Given the description of an element on the screen output the (x, y) to click on. 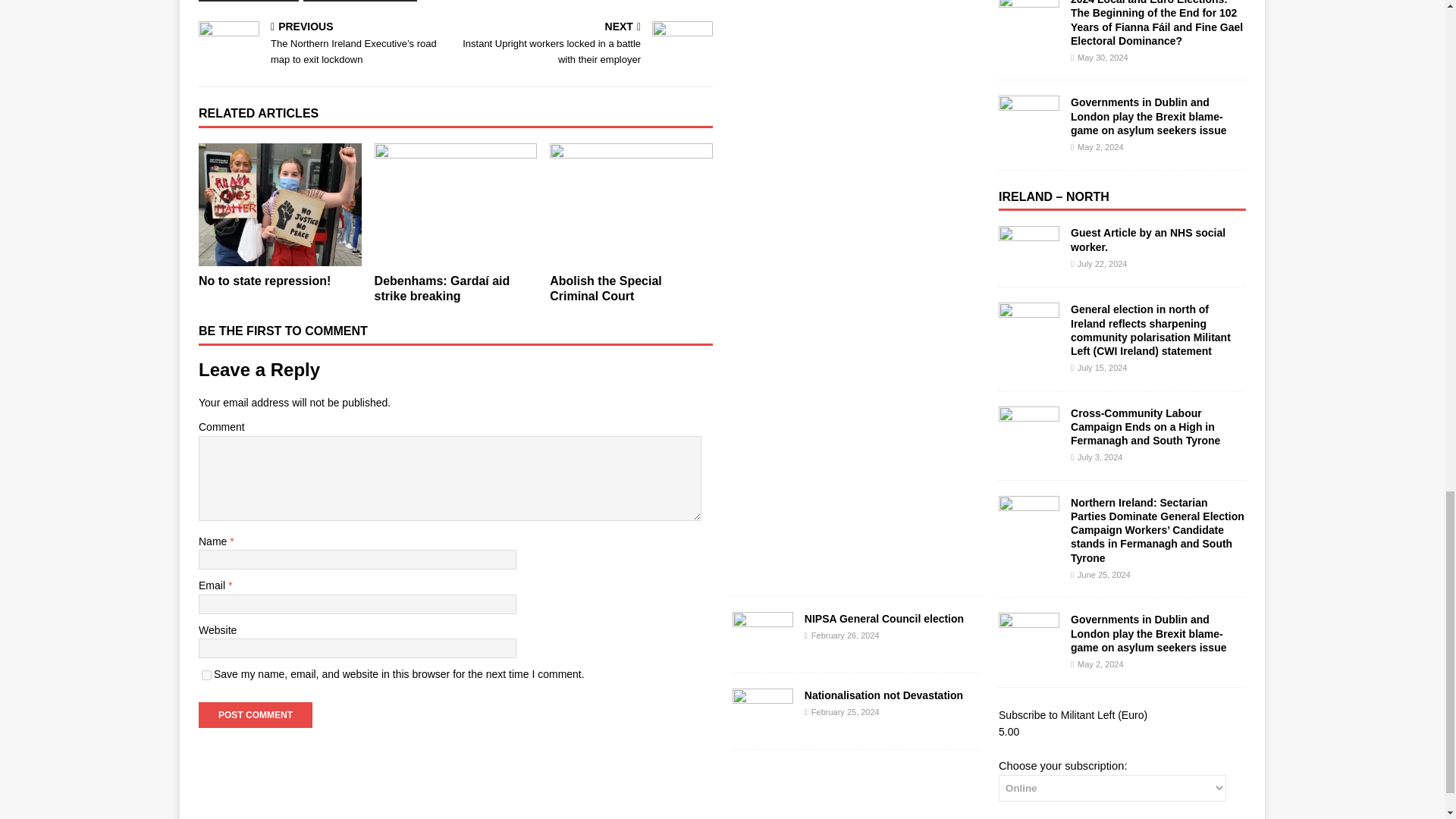
yes (206, 675)
Post Comment (255, 714)
PARAMILITARISM (248, 0)
